Given the description of an element on the screen output the (x, y) to click on. 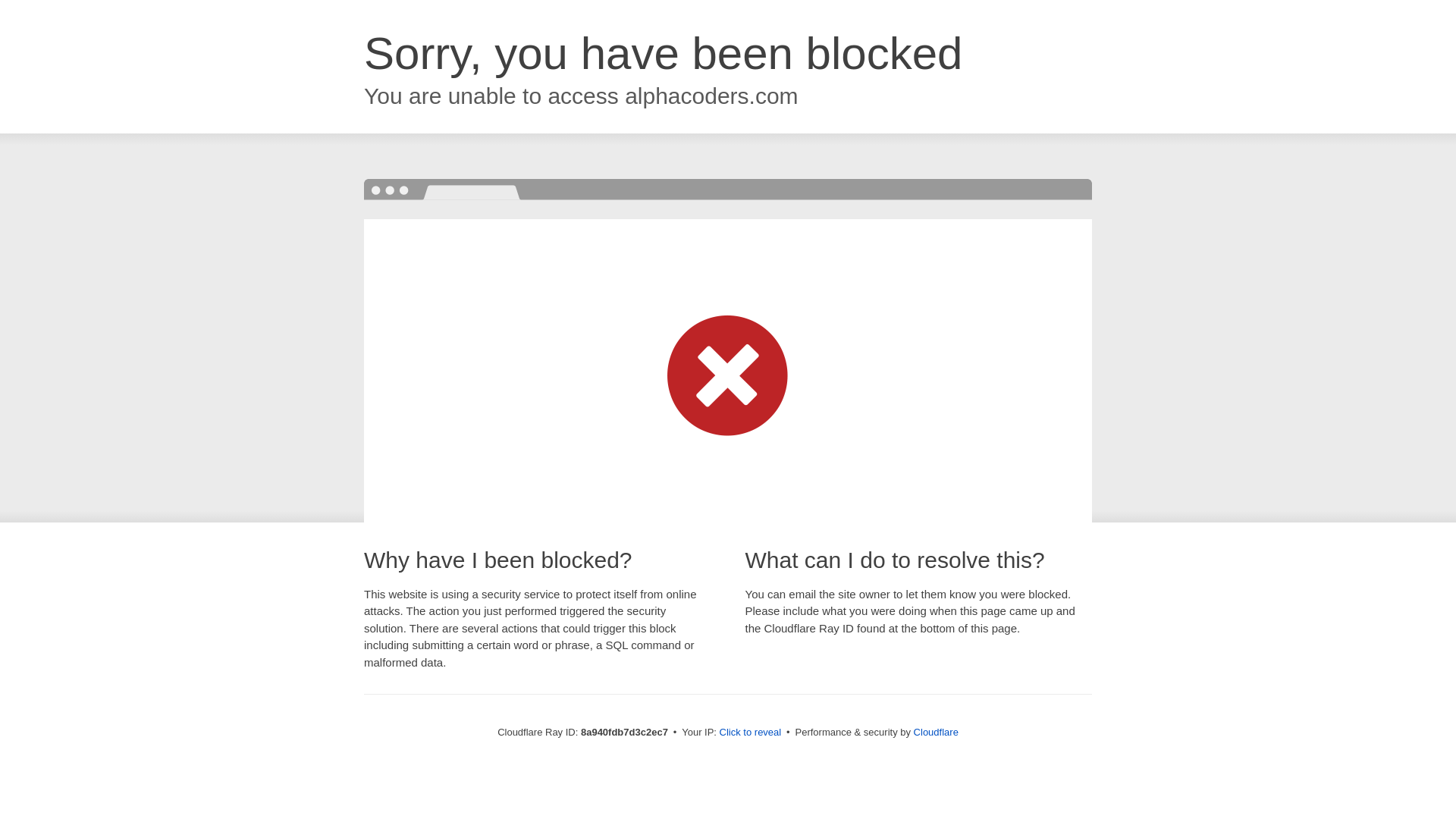
Click to reveal (750, 732)
Cloudflare (936, 731)
